Given the description of an element on the screen output the (x, y) to click on. 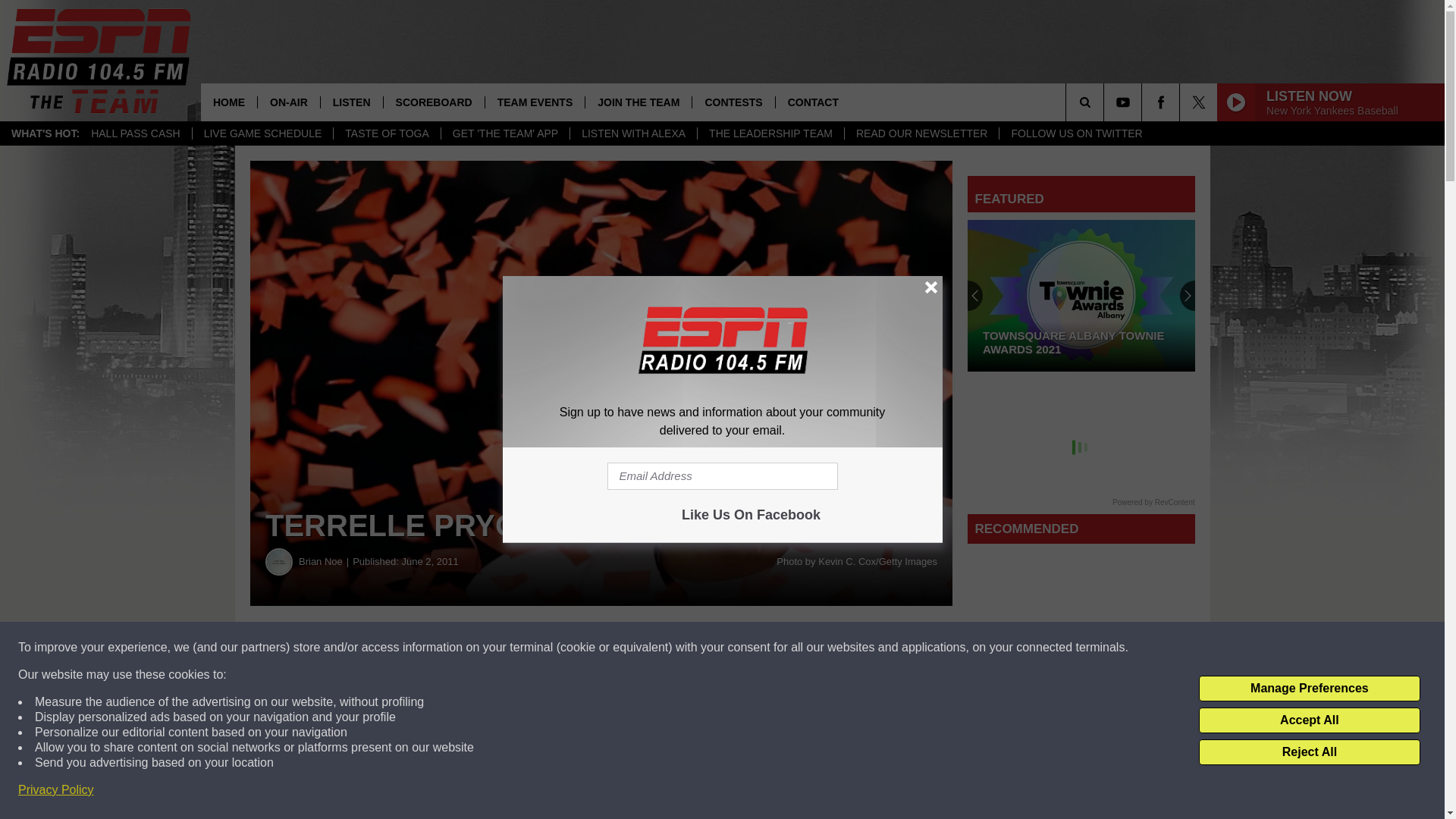
LISTEN WITH ALEXA (633, 133)
LISTEN (351, 102)
GET 'THE TEAM' APP (505, 133)
TASTE OF TOGA (386, 133)
HALL PASS CASH (136, 133)
HOME (228, 102)
Accept All (1309, 720)
SEARCH (1106, 102)
TEAM EVENTS (534, 102)
Privacy Policy (55, 789)
SEARCH (1106, 102)
Manage Preferences (1309, 688)
CONTESTS (732, 102)
SCOREBOARD (433, 102)
Reject All (1309, 751)
